Given the description of an element on the screen output the (x, y) to click on. 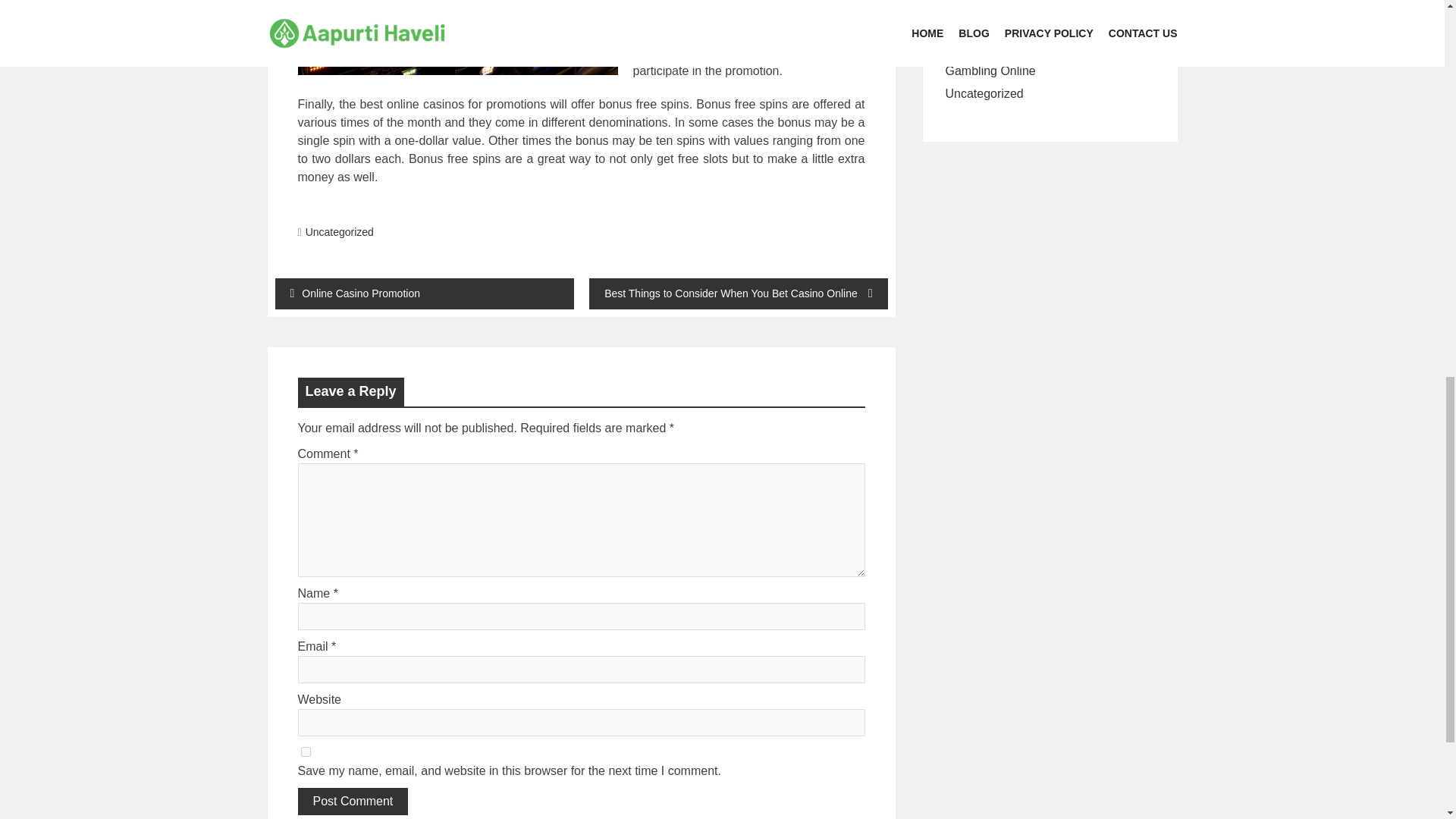
Online Casino Promotion (424, 293)
Post Comment (352, 800)
Gambling Online (989, 70)
Post Comment (352, 800)
Best Things to Consider When You Bet Casino Online  (737, 293)
yes (304, 751)
Uncategorized (983, 92)
Uncategorized (339, 232)
